Given the description of an element on the screen output the (x, y) to click on. 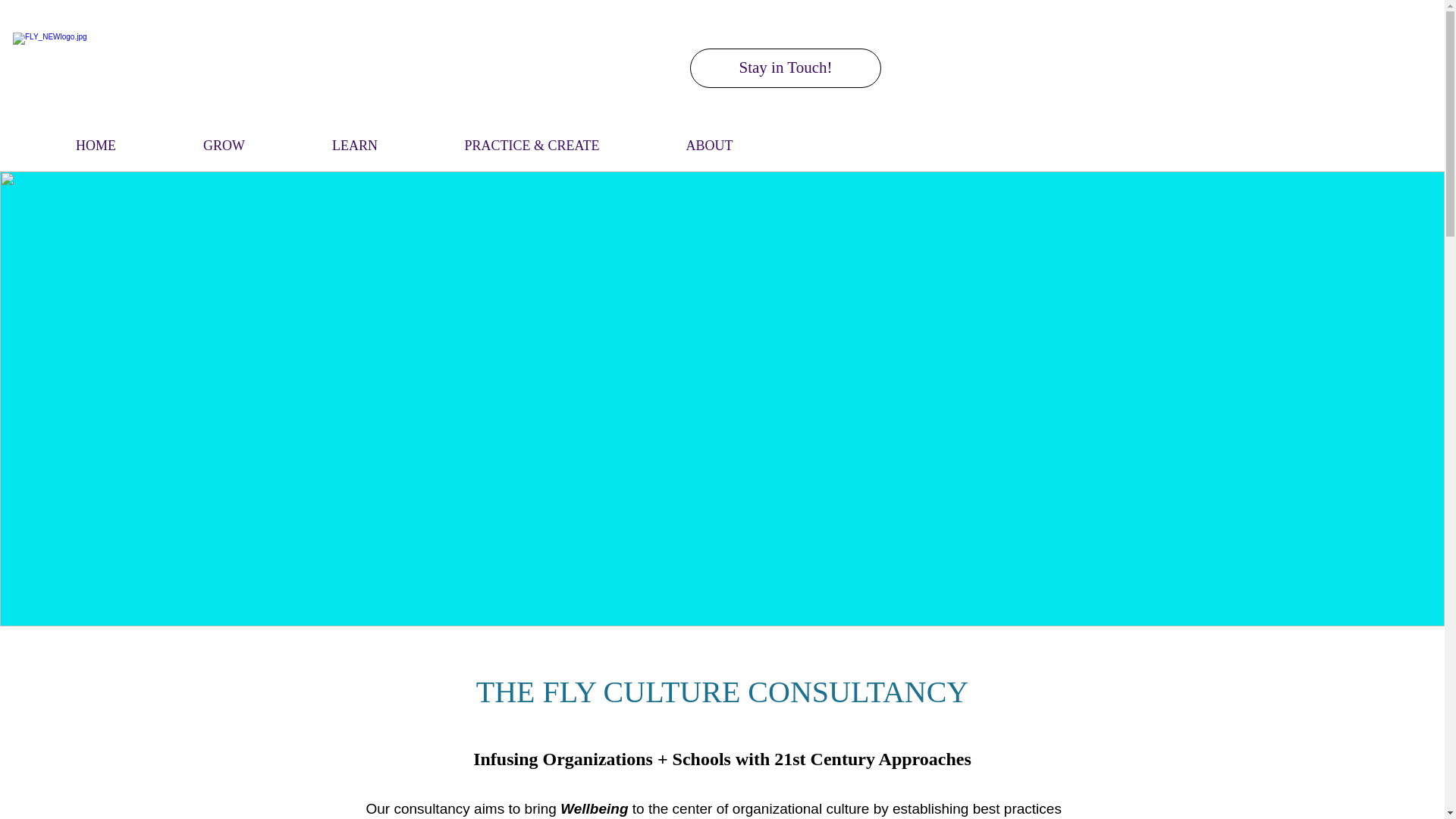
HOME (95, 138)
Stay in Touch! (785, 67)
